Given the description of an element on the screen output the (x, y) to click on. 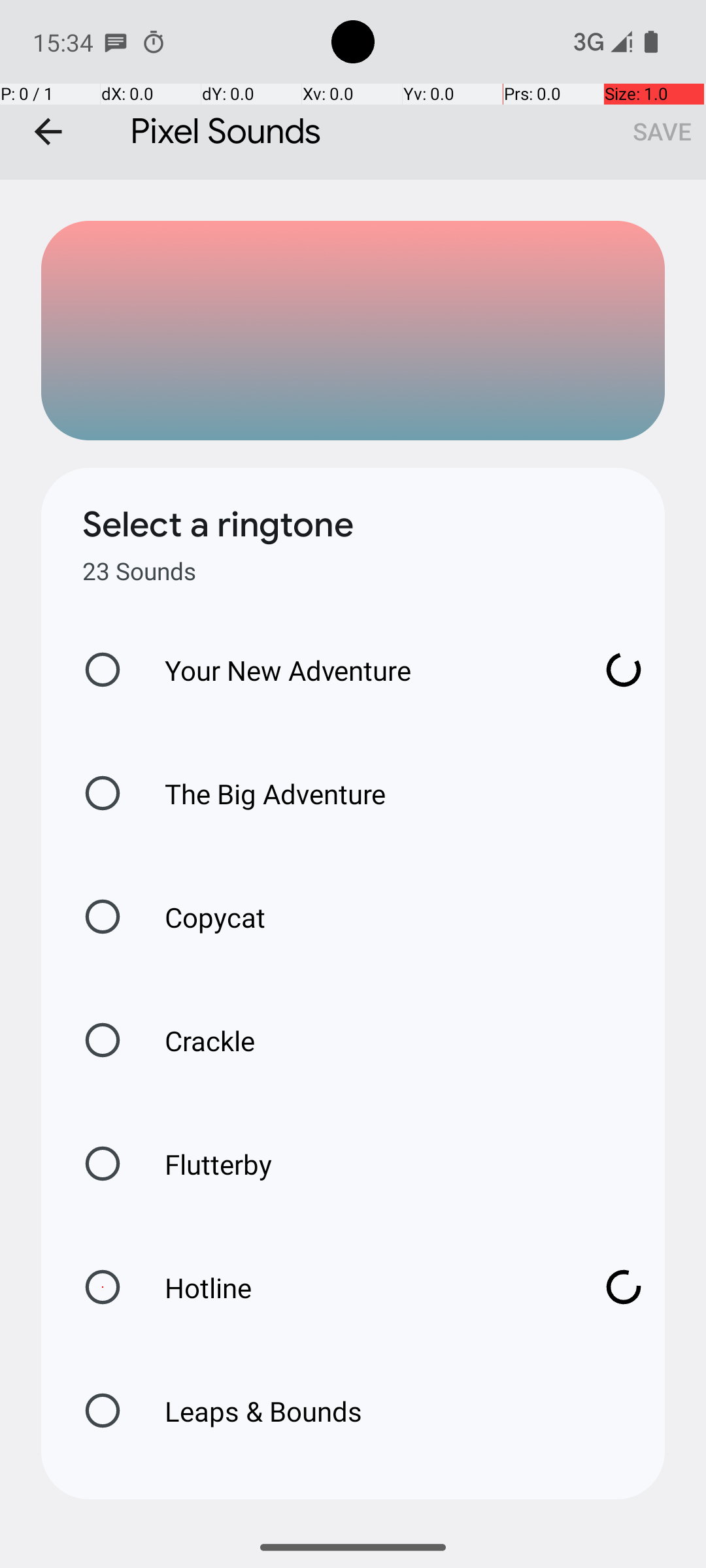
Your New Adventure Element type: android.widget.TextView (359, 669)
The Big Adventure Element type: android.widget.TextView (261, 793)
Copycat Element type: android.widget.TextView (201, 916)
Crackle Element type: android.widget.TextView (196, 1040)
Flutterby Element type: android.widget.TextView (204, 1163)
Hotline Element type: android.widget.TextView (359, 1287)
Leaps & Bounds Element type: android.widget.TextView (249, 1410)
